Given the description of an element on the screen output the (x, y) to click on. 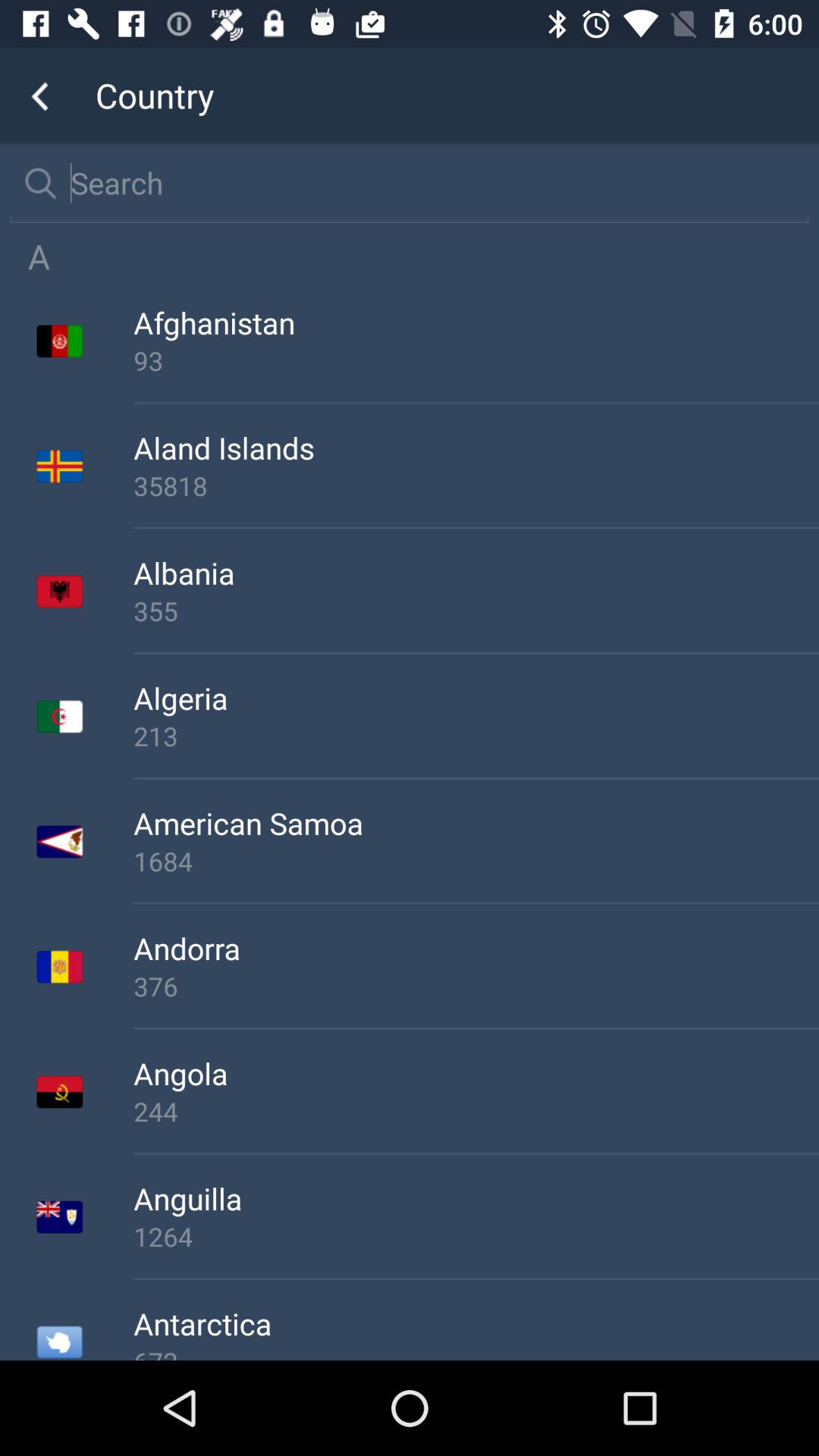
press the 213 item (476, 735)
